Given the description of an element on the screen output the (x, y) to click on. 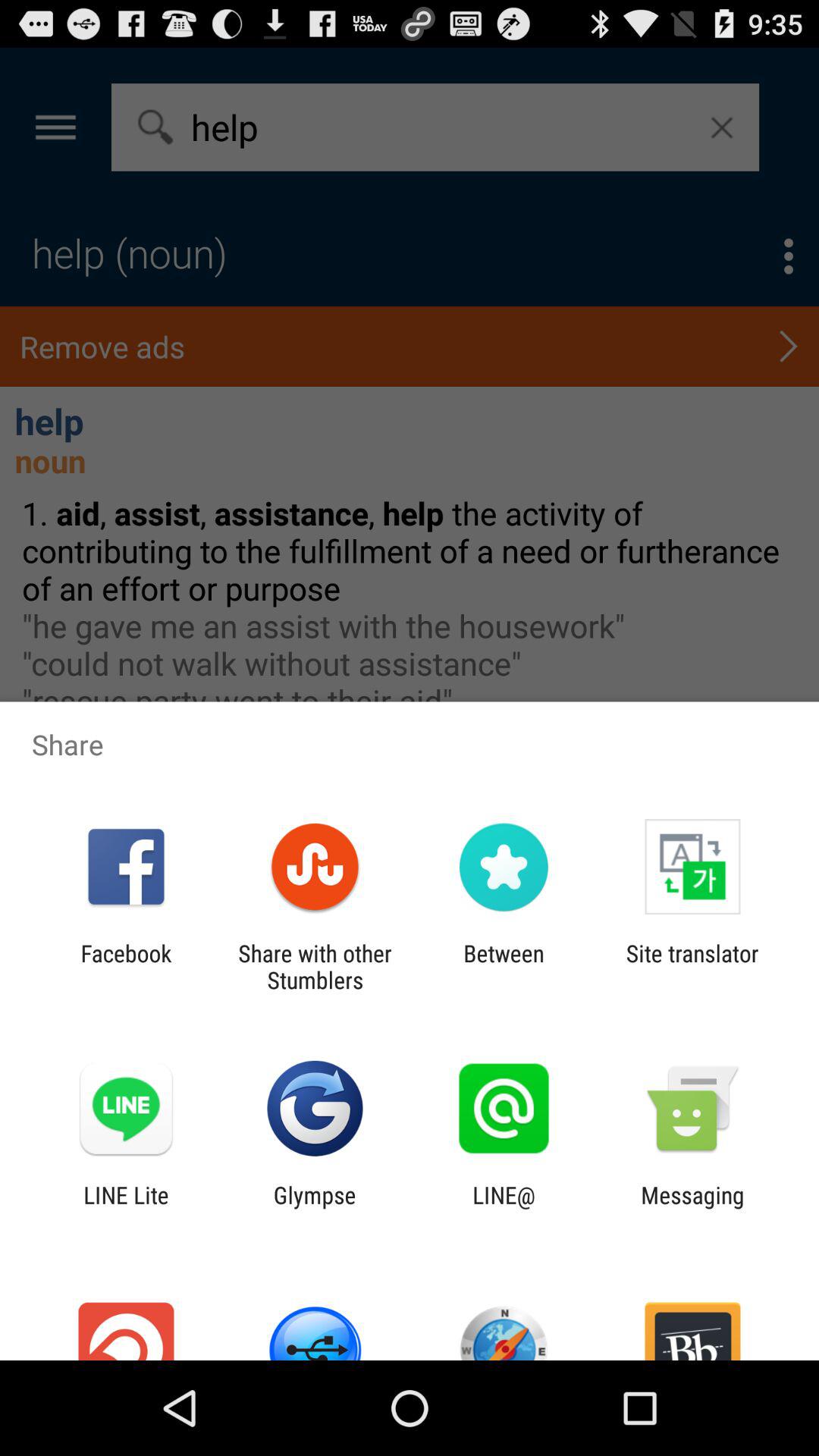
turn on the app to the left of the site translator icon (503, 966)
